Given the description of an element on the screen output the (x, y) to click on. 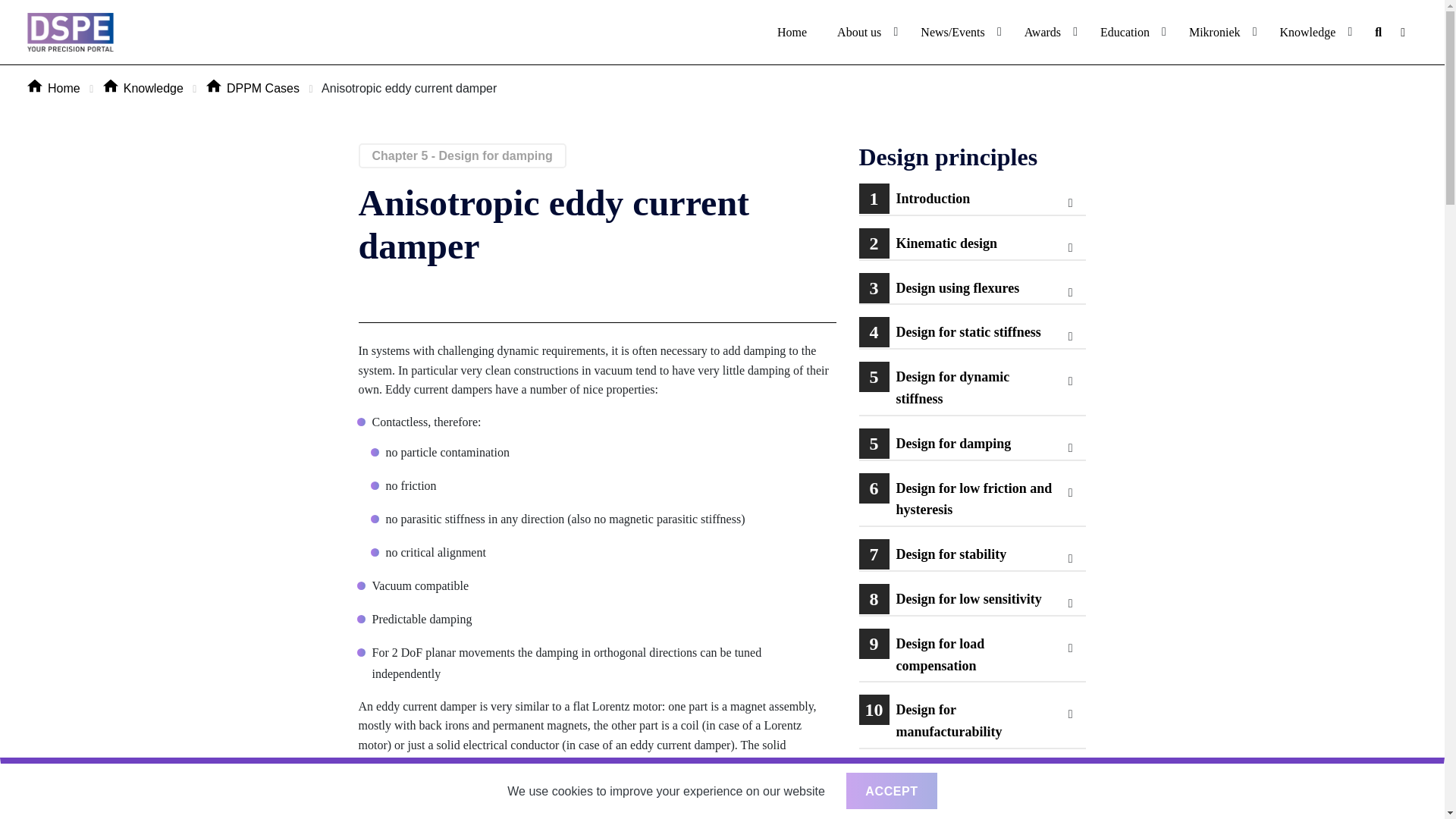
Awards (1042, 32)
Knowledge (1307, 32)
Home (791, 32)
Education (1124, 32)
About us (859, 32)
Mikroniek (1214, 32)
